Given the description of an element on the screen output the (x, y) to click on. 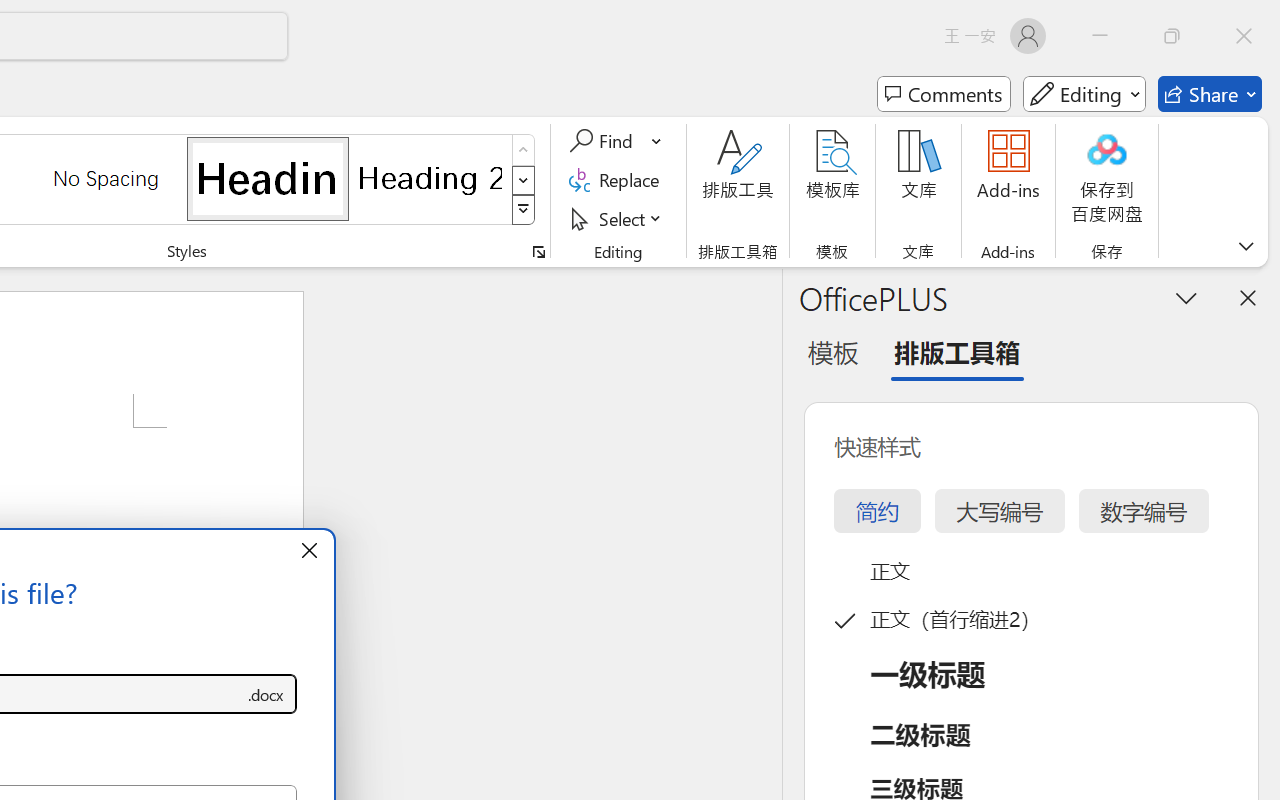
Save as type (265, 694)
